Given the description of an element on the screen output the (x, y) to click on. 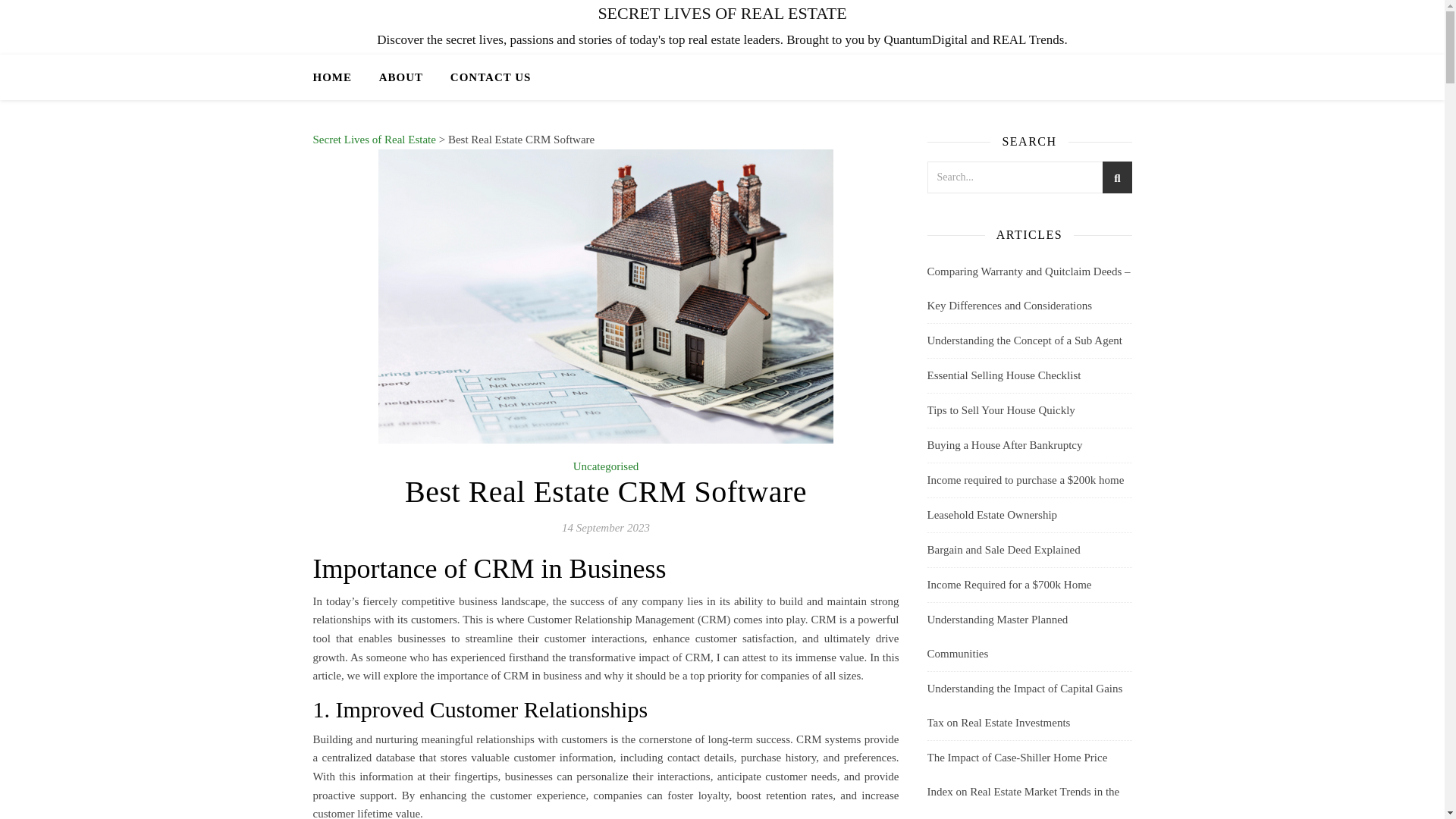
Essential Selling House Checklist (1003, 375)
ABOUT (400, 76)
Tips to Sell Your House Quickly (1000, 410)
Understanding Master Planned Communities (996, 636)
Go to Secret Lives of Real Estate. (374, 139)
CONTACT US (484, 76)
Buying a House After Bankruptcy (1003, 444)
Secret Lives of Real Estate (374, 139)
Bargain and Sale Deed Explained (1003, 549)
HOME (338, 76)
SECRET LIVES OF REAL ESTATE (722, 13)
Search (1104, 179)
Understanding the Concept of a Sub Agent (1023, 340)
